Given the description of an element on the screen output the (x, y) to click on. 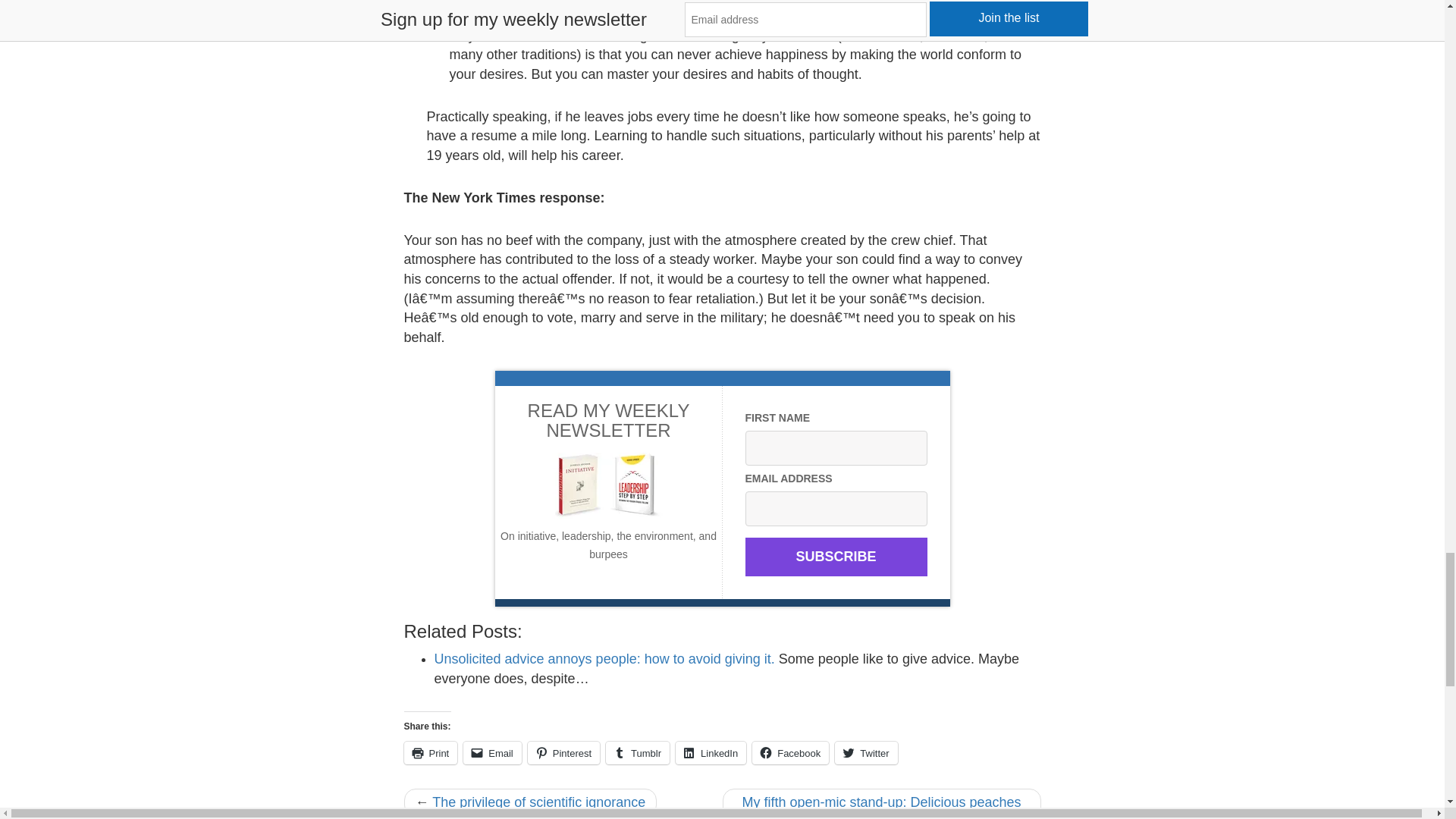
The privilege of scientific ignorance (538, 801)
Click to share on Twitter (865, 753)
Email (492, 753)
Click to print (430, 753)
Unsolicited advice annoys people: how to avoid giving it. (603, 658)
Print (430, 753)
Click to email a link to a friend (492, 753)
Click to share on Tumblr (637, 753)
Tumblr (637, 753)
Click to share on Facebook (790, 753)
